Given the description of an element on the screen output the (x, y) to click on. 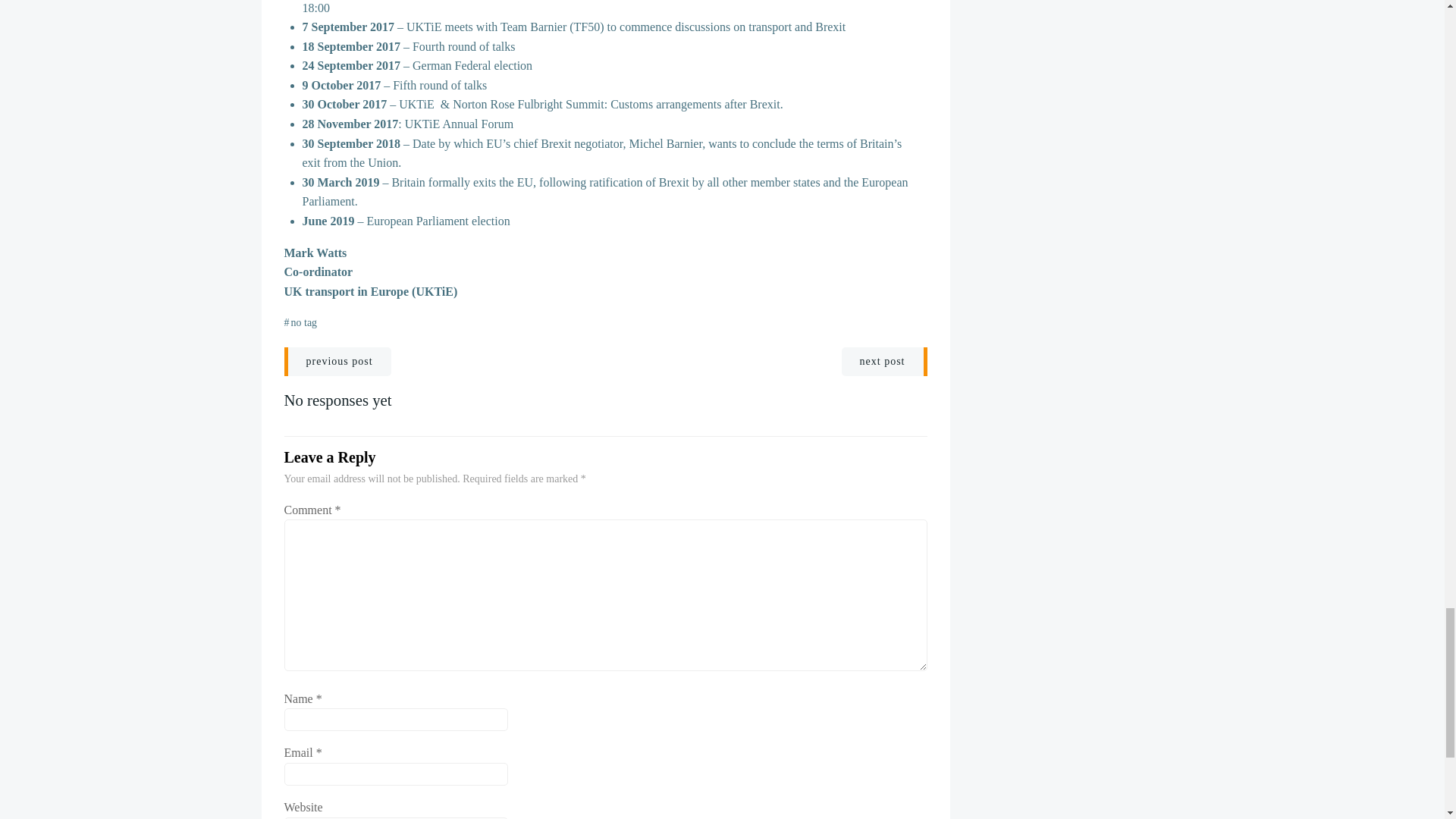
next post (884, 361)
previous post (336, 361)
